Given the description of an element on the screen output the (x, y) to click on. 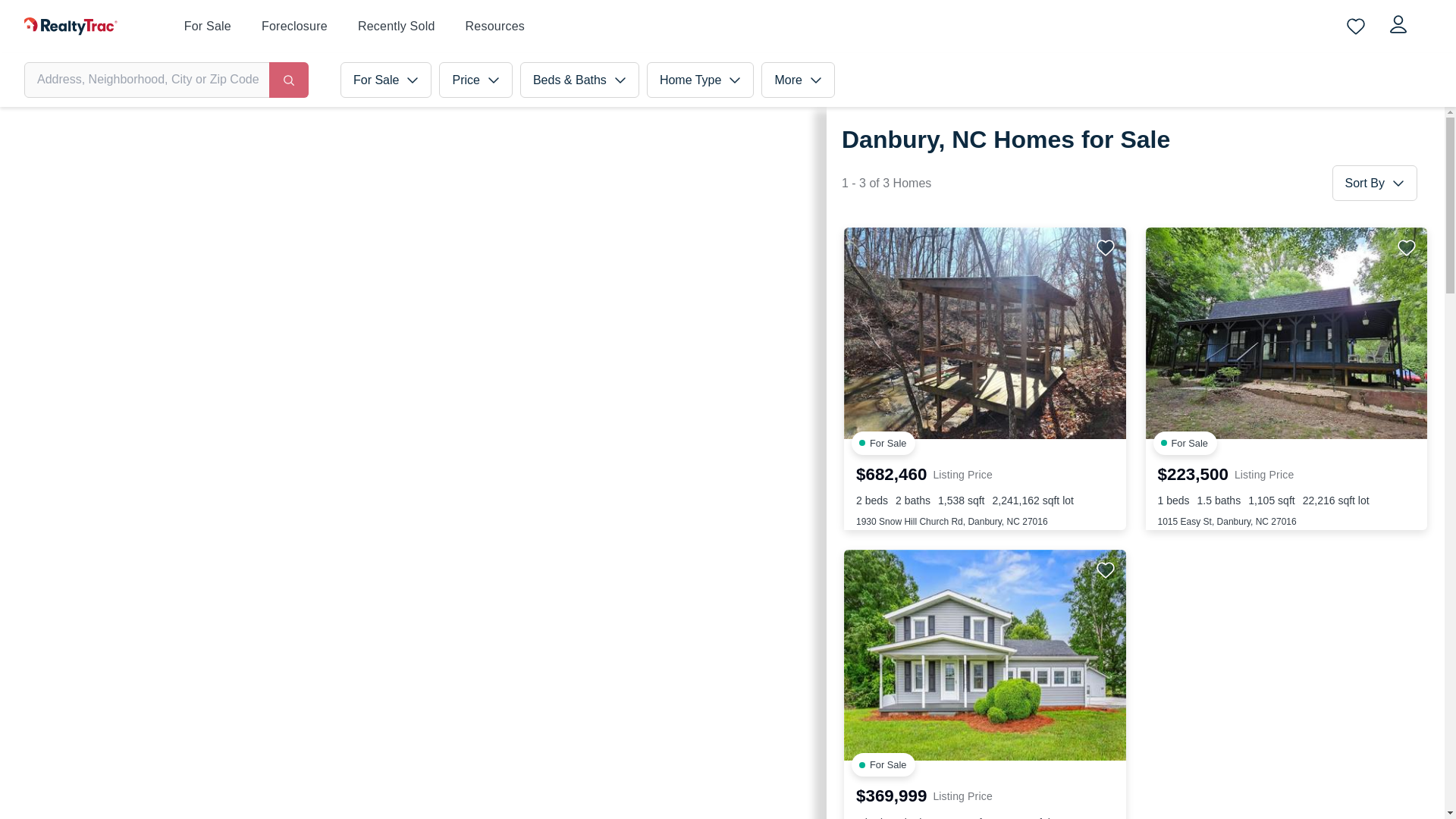
Price (475, 79)
Foreclosure (294, 26)
For Sale (207, 26)
For Sale (385, 79)
Recently Sold (396, 26)
Resources (495, 26)
